Given the description of an element on the screen output the (x, y) to click on. 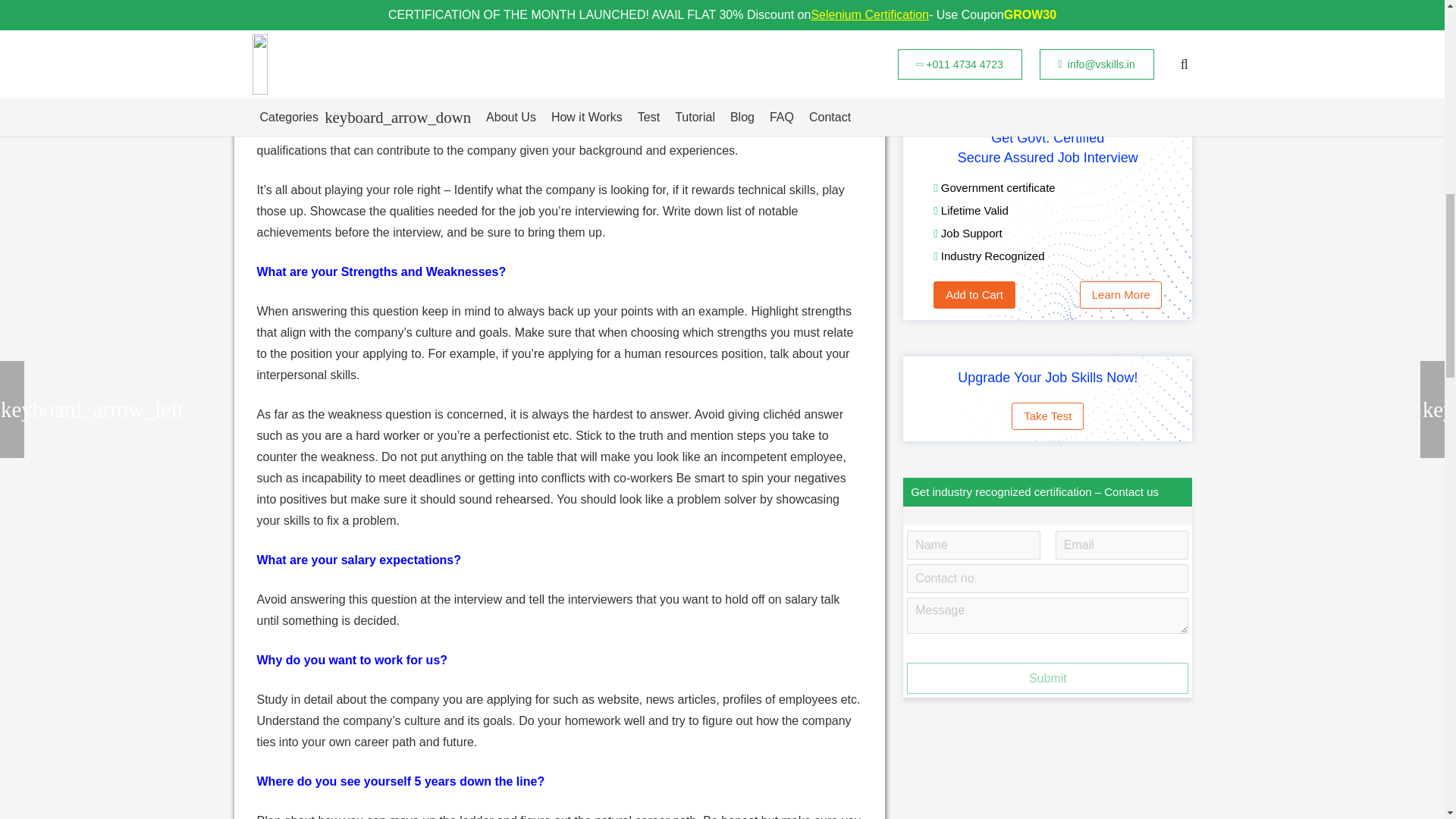
Back to top (1413, 26)
